Given the description of an element on the screen output the (x, y) to click on. 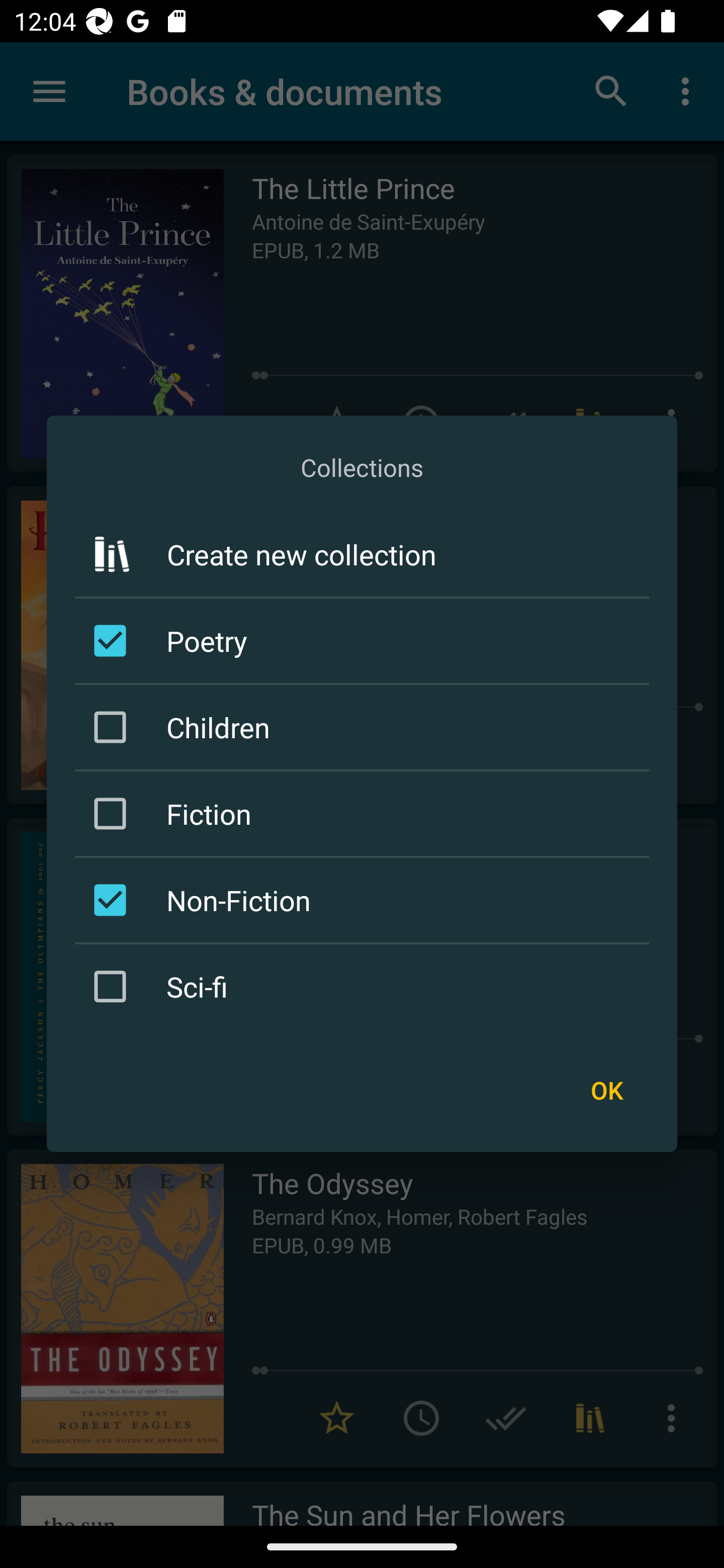
Create new collection (361, 553)
Poetry (365, 640)
Children (365, 727)
Fiction (365, 813)
Non-Fiction (365, 899)
Sci-fi (365, 985)
OK (606, 1090)
